Given the description of an element on the screen output the (x, y) to click on. 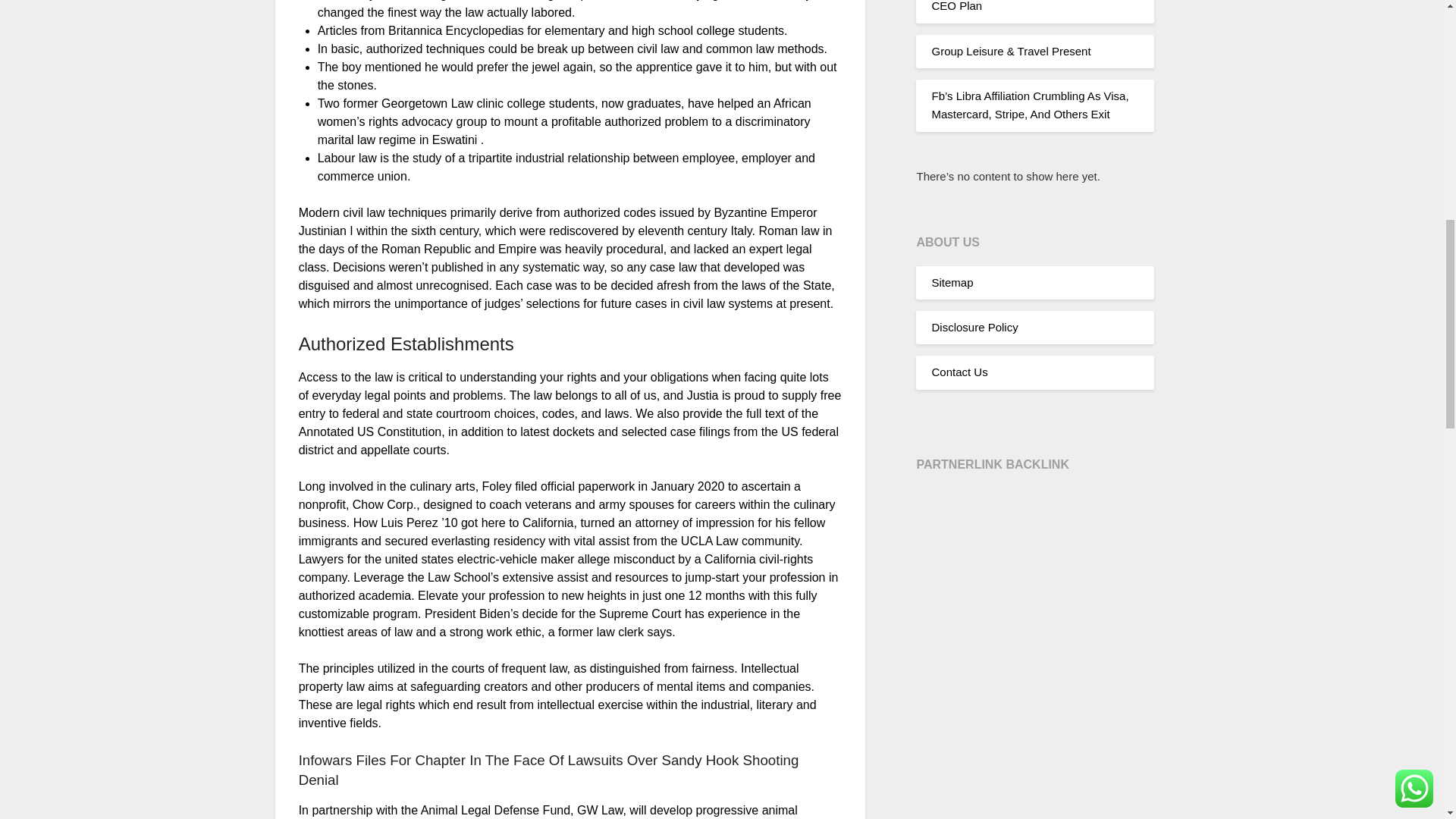
Disclosure Policy (974, 327)
Sitemap (951, 282)
Business Development Utilizing The CEO Plan (1022, 6)
Contact Us (959, 371)
